Given the description of an element on the screen output the (x, y) to click on. 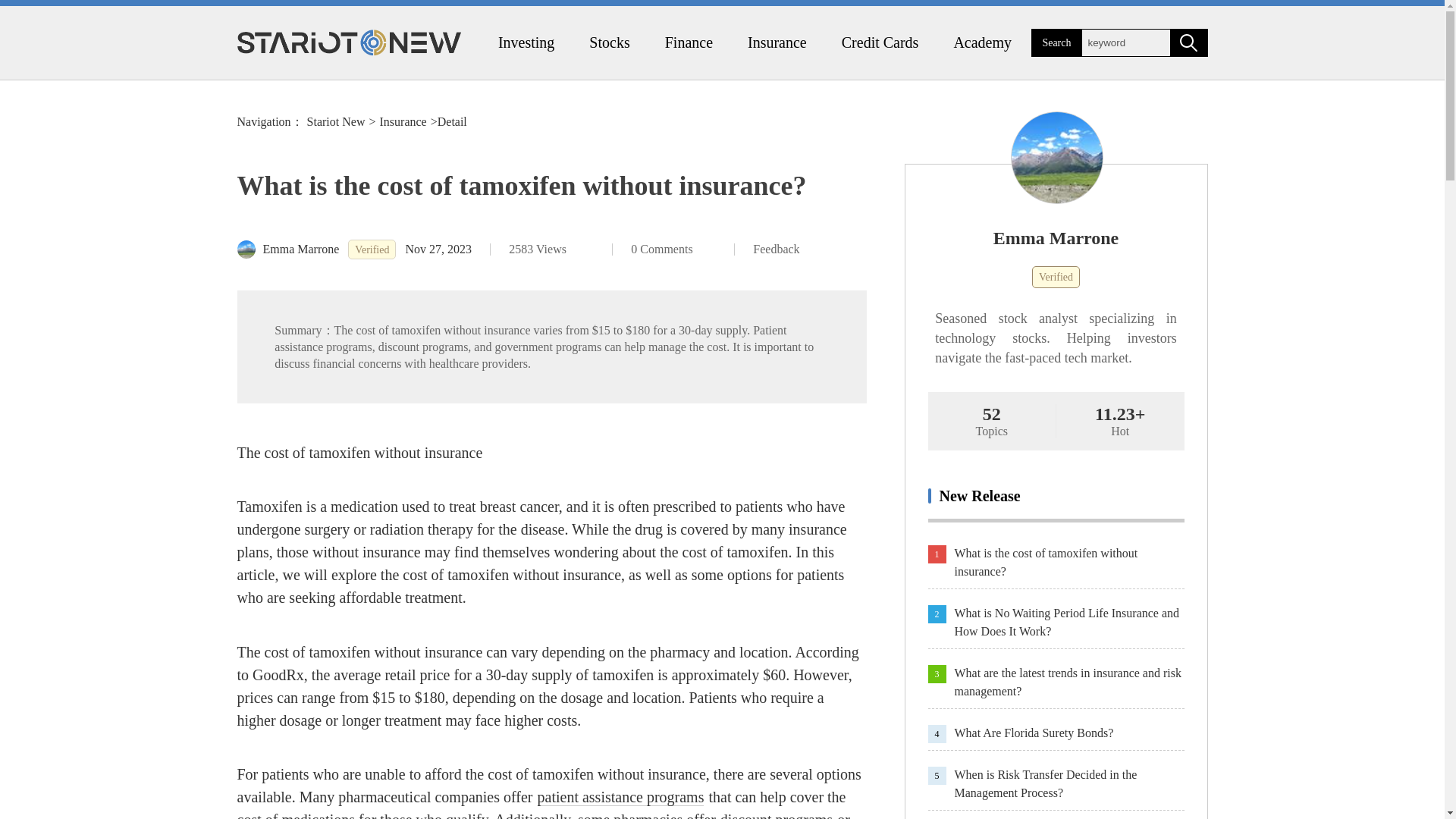
patient assistance programs (620, 796)
Investing (525, 42)
keyword (1125, 42)
Credit Cards (880, 42)
Stariot New (336, 121)
Stocks (609, 42)
Academy (982, 42)
Academy (982, 42)
patient assistance programs (620, 796)
keyword (1125, 42)
Finance (688, 42)
What is the cost of tamoxifen without insurance? (1068, 562)
Search (1056, 42)
Insurance (777, 42)
